Given the description of an element on the screen output the (x, y) to click on. 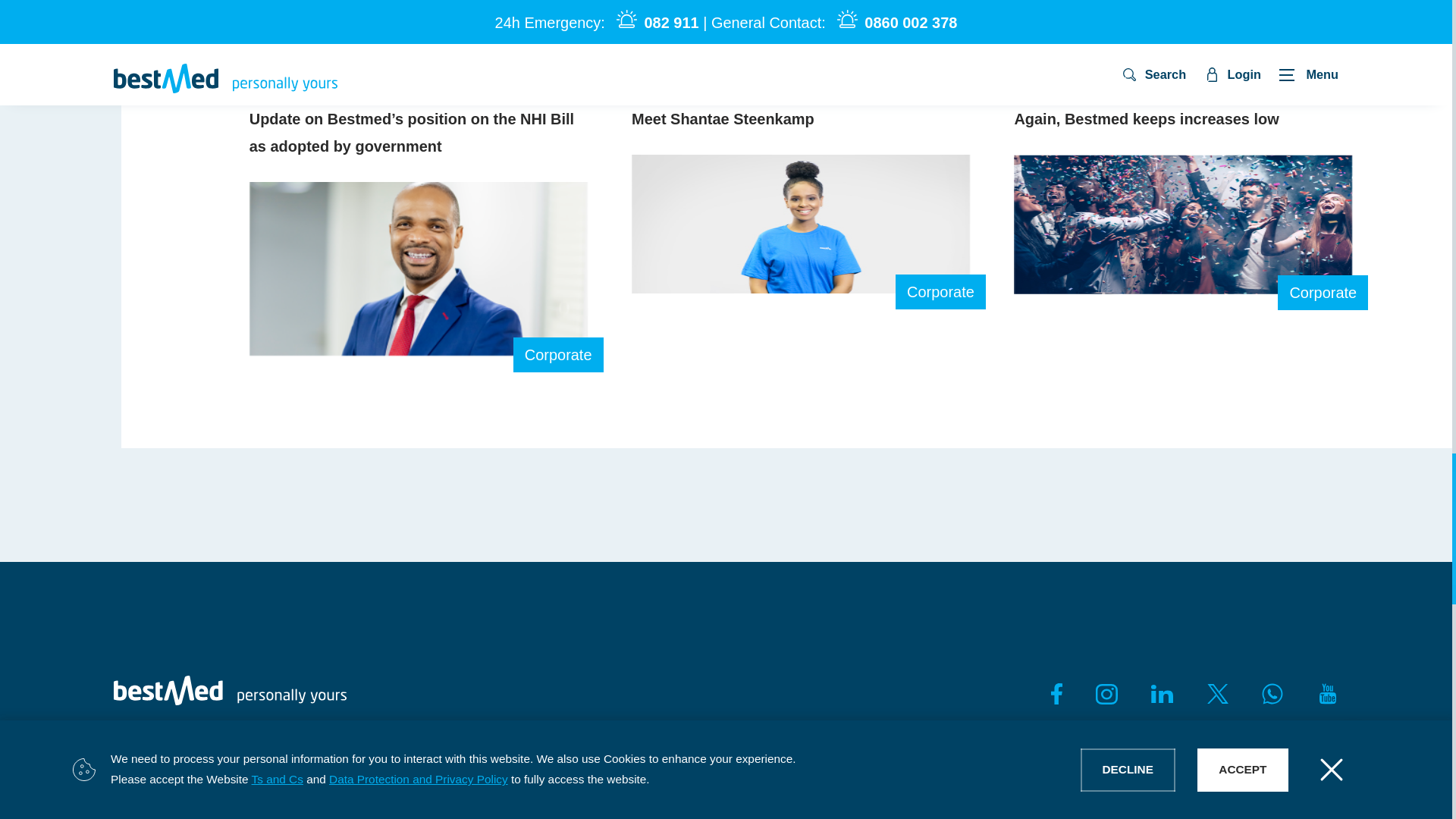
WhatsApp (1271, 694)
Twitter (1217, 694)
Youtube (1327, 694)
Instagram (1107, 694)
Facebook (1051, 694)
LinkedIn (1162, 694)
